Given the description of an element on the screen output the (x, y) to click on. 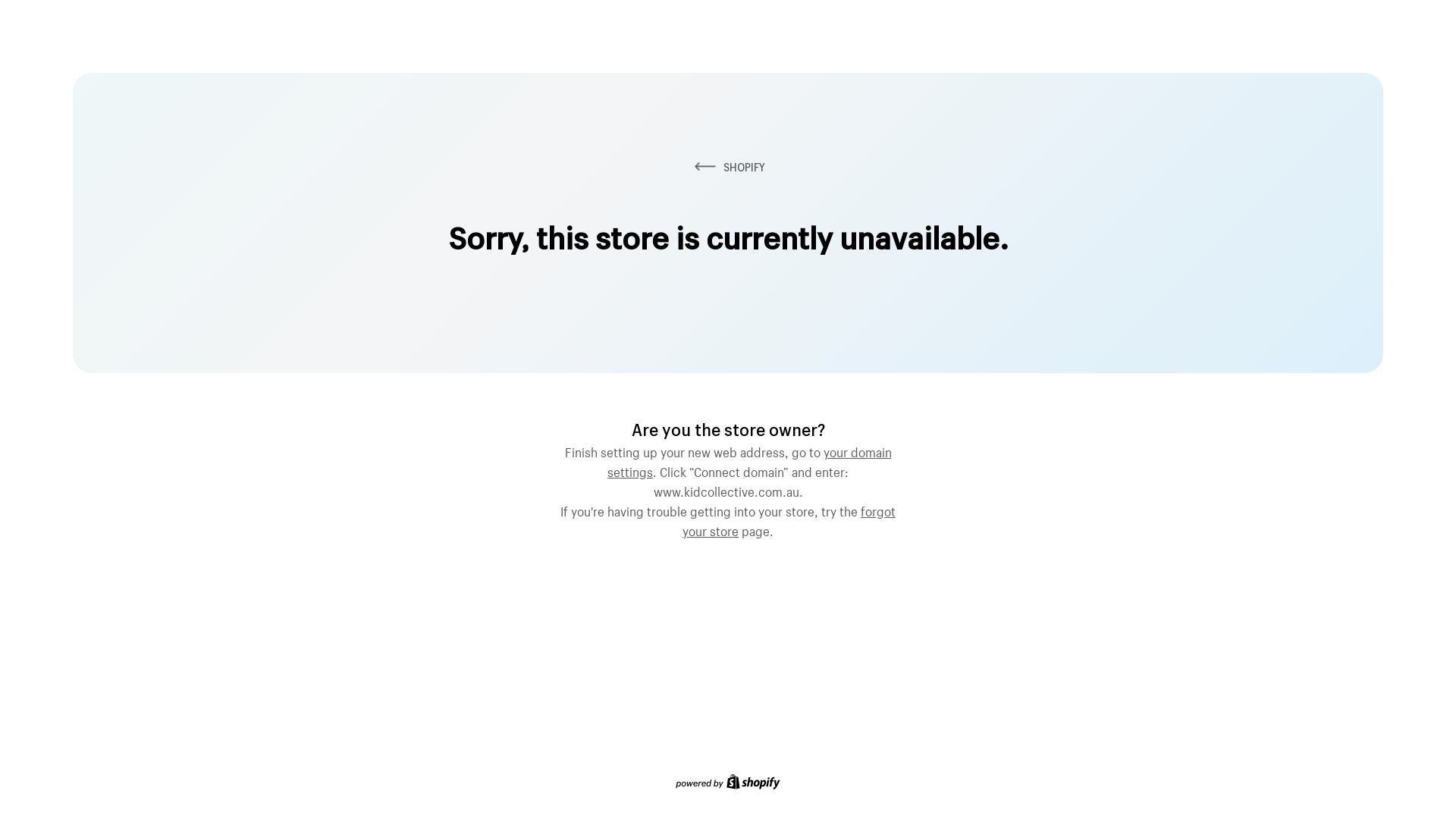
SHOPIFY Element type: text (727, 167)
your domain settings Element type: text (749, 460)
forgot your store Element type: text (788, 519)
